Given the description of an element on the screen output the (x, y) to click on. 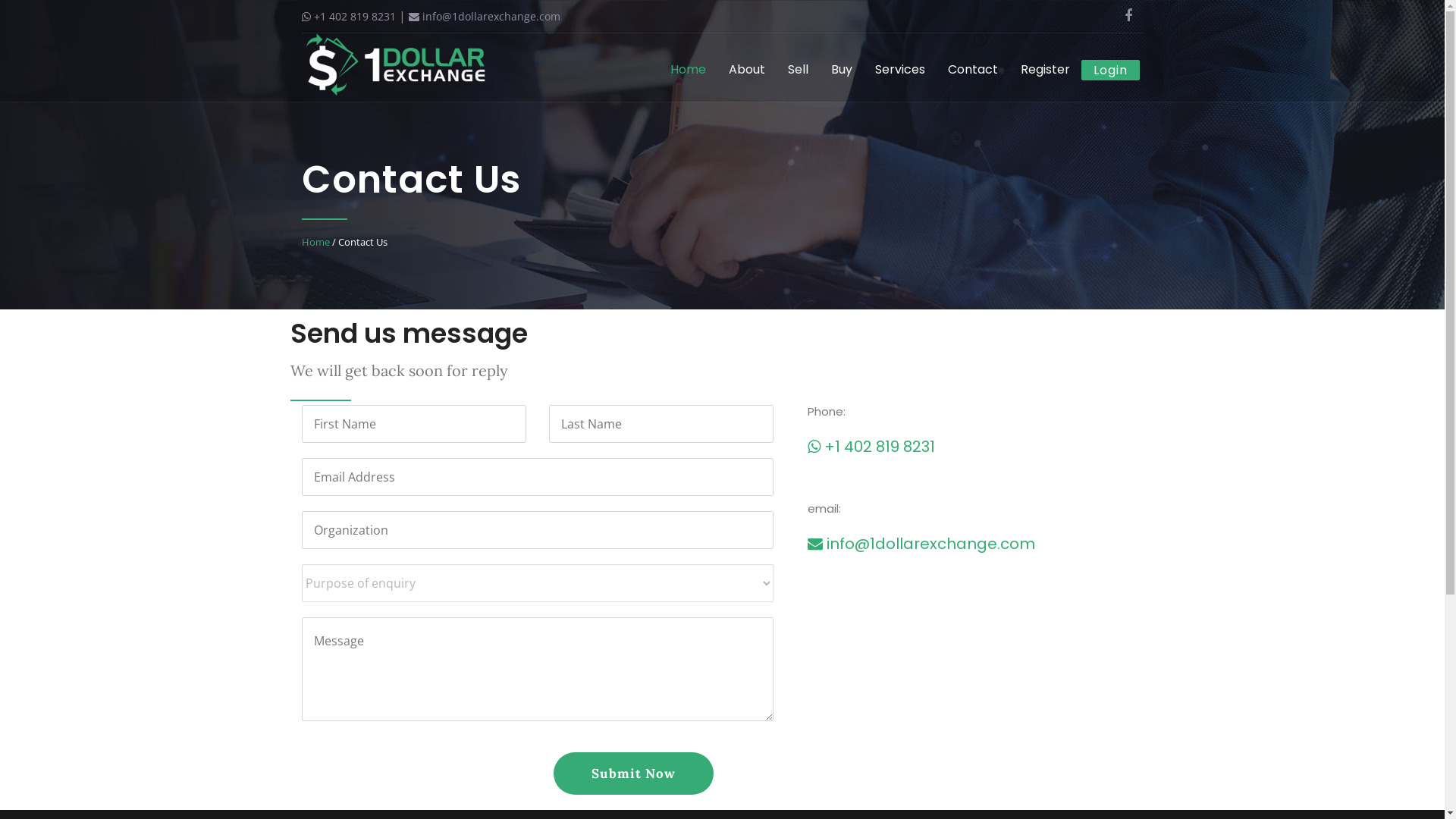
Register Element type: text (1044, 68)
Home Element type: text (687, 68)
Sell Element type: text (797, 68)
About Element type: text (746, 68)
Buy Element type: text (840, 68)
info@1dollarexchange.com Element type: text (921, 543)
+1 402 819 8231 Element type: text (871, 446)
Facebook Element type: hover (1128, 15)
Contact Element type: text (971, 68)
Home Element type: text (315, 241)
Login Element type: text (1110, 69)
+1 402 819 8231 Element type: text (348, 16)
Submit Now Element type: text (633, 773)
info@1dollarexchange.com Element type: text (483, 16)
Services Element type: text (898, 68)
